Given the description of an element on the screen output the (x, y) to click on. 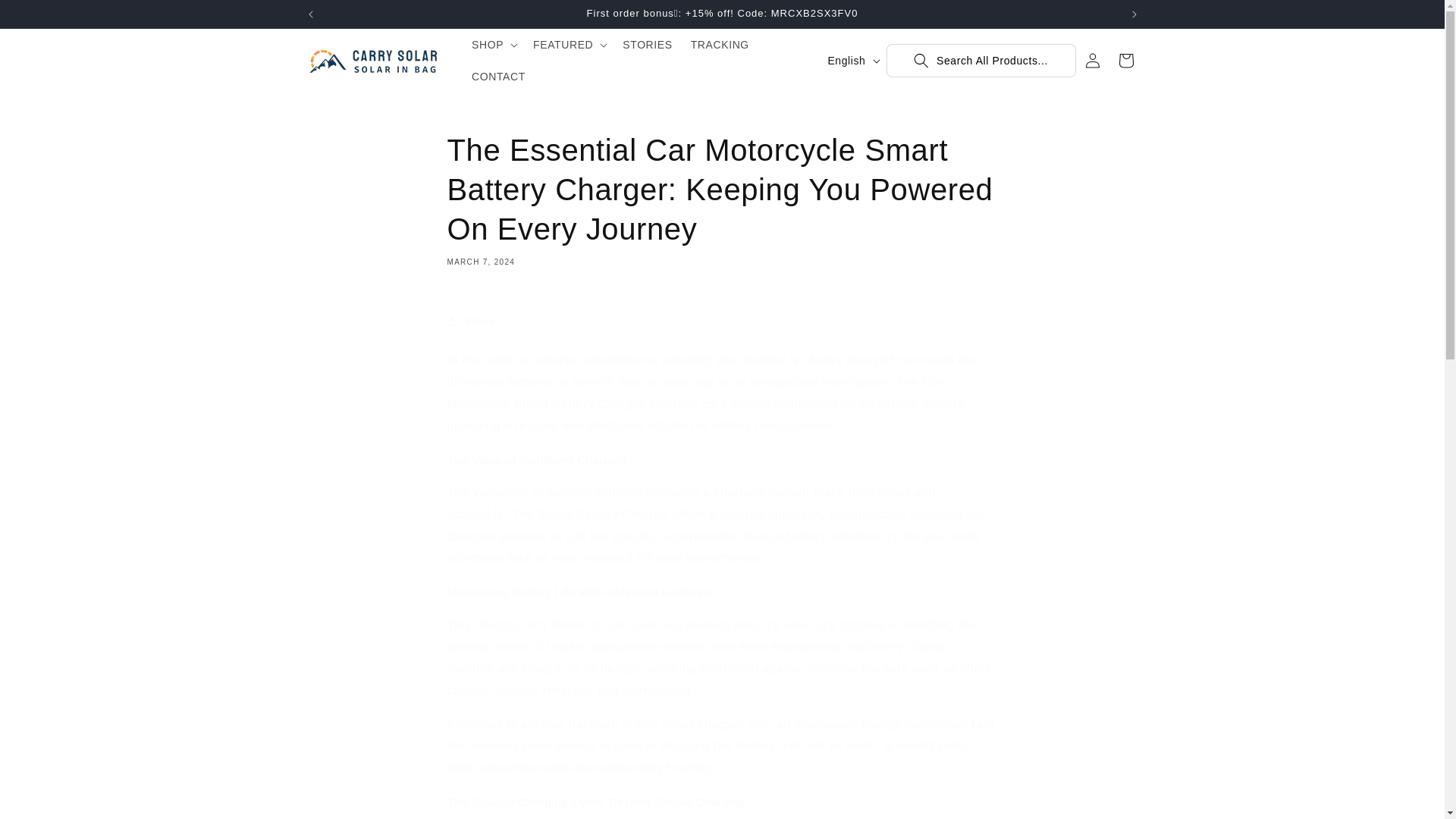
Share (721, 321)
Skip to content (45, 17)
